Given the description of an element on the screen output the (x, y) to click on. 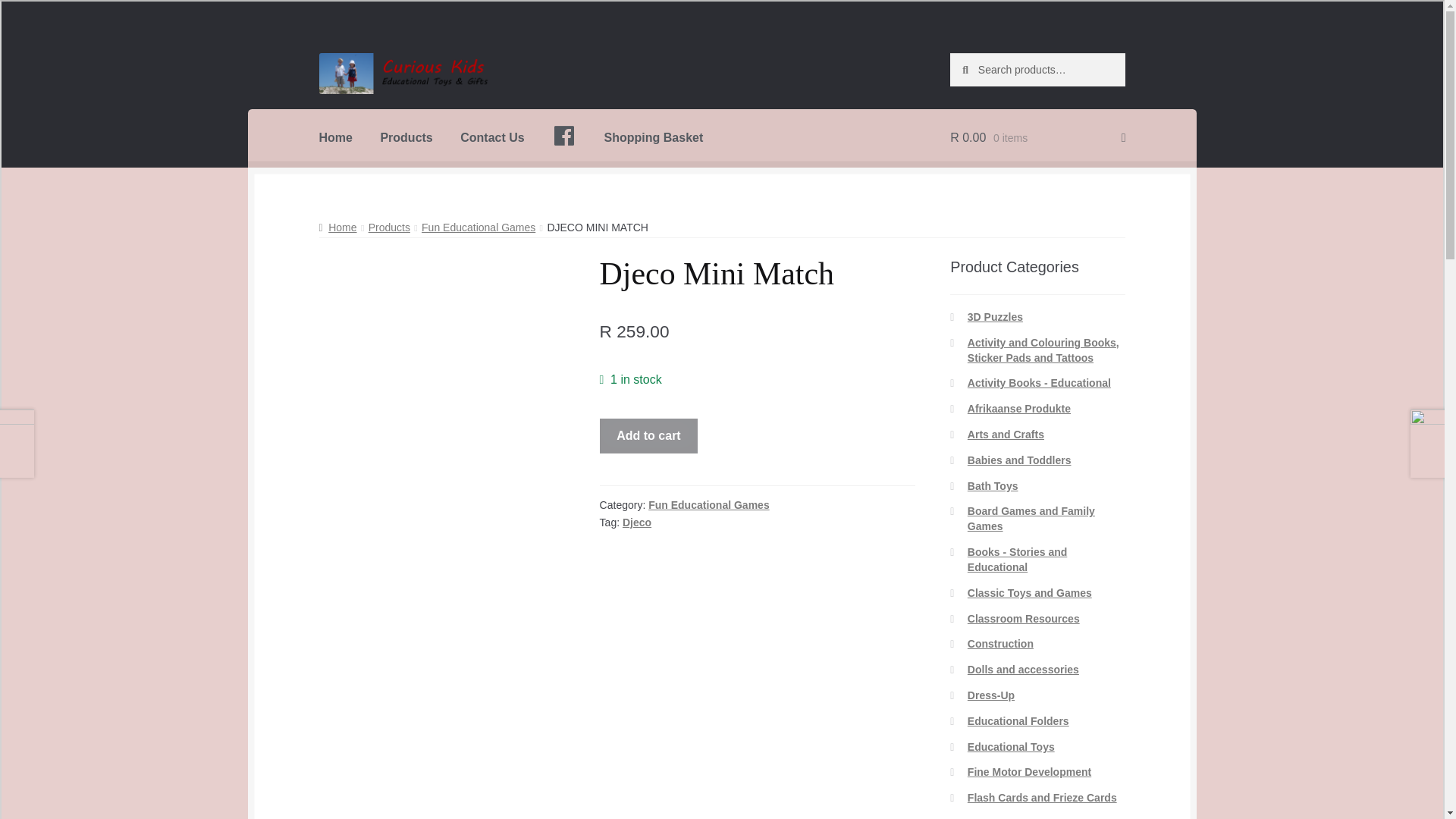
Fun Educational Games (707, 504)
Djeco (636, 522)
Add to cart (648, 435)
Activity and Colouring Books, Sticker Pads and Tattoos (1043, 349)
View your shopping cart (1037, 138)
Products (389, 227)
R 0.00 0 items (1037, 138)
Shopping Basket (654, 138)
